Given the description of an element on the screen output the (x, y) to click on. 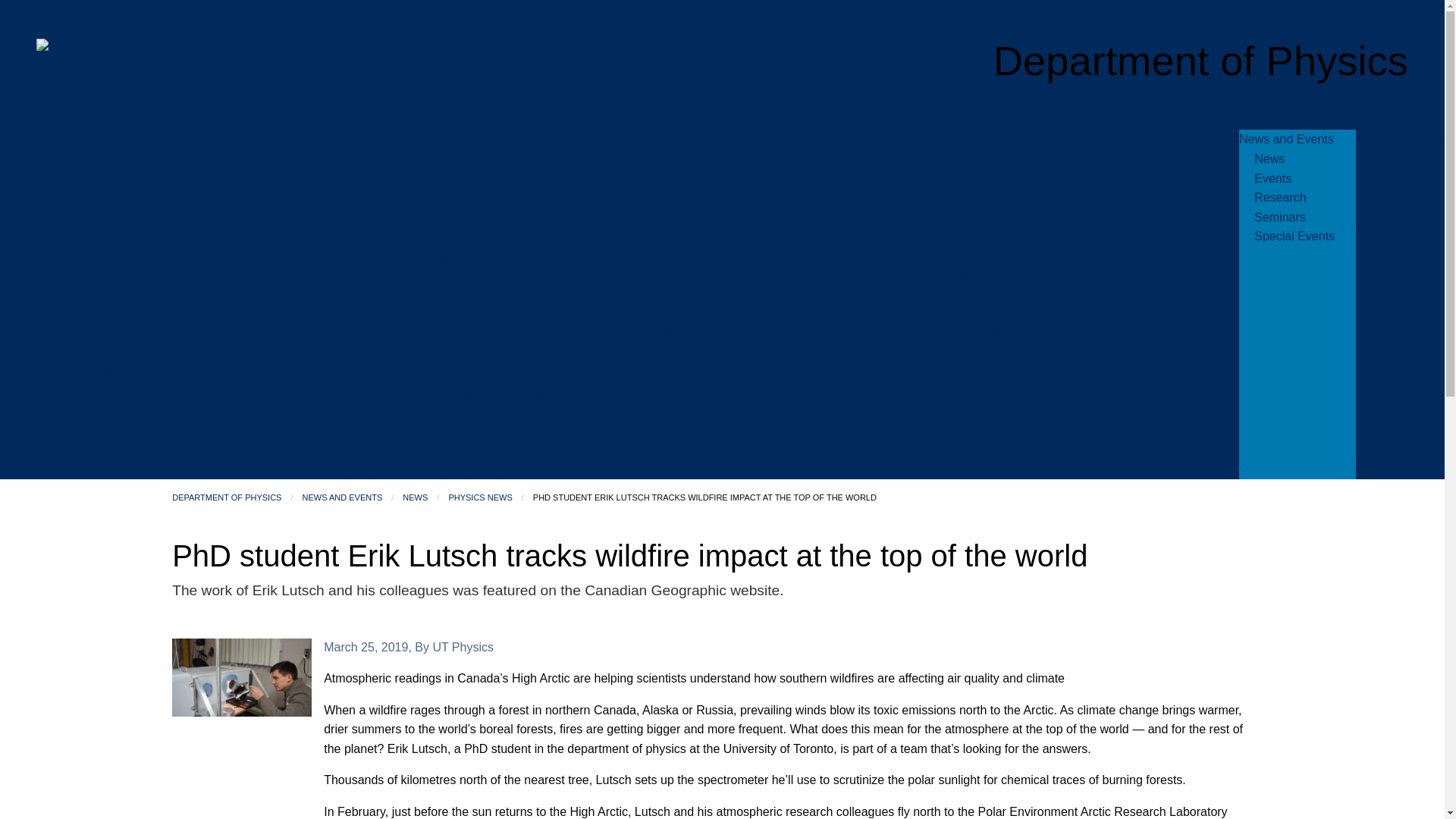
Health and Safety (96, 371)
Van Kranendonk Award Nomination (429, 294)
Current Students (847, 196)
Undergraduate Courses (399, 196)
Undergraduate Chair's Message (421, 158)
Welcome (826, 158)
Home (16, 138)
Forms (818, 255)
About the Physics Department (129, 177)
History of the Department (117, 255)
